Given the description of an element on the screen output the (x, y) to click on. 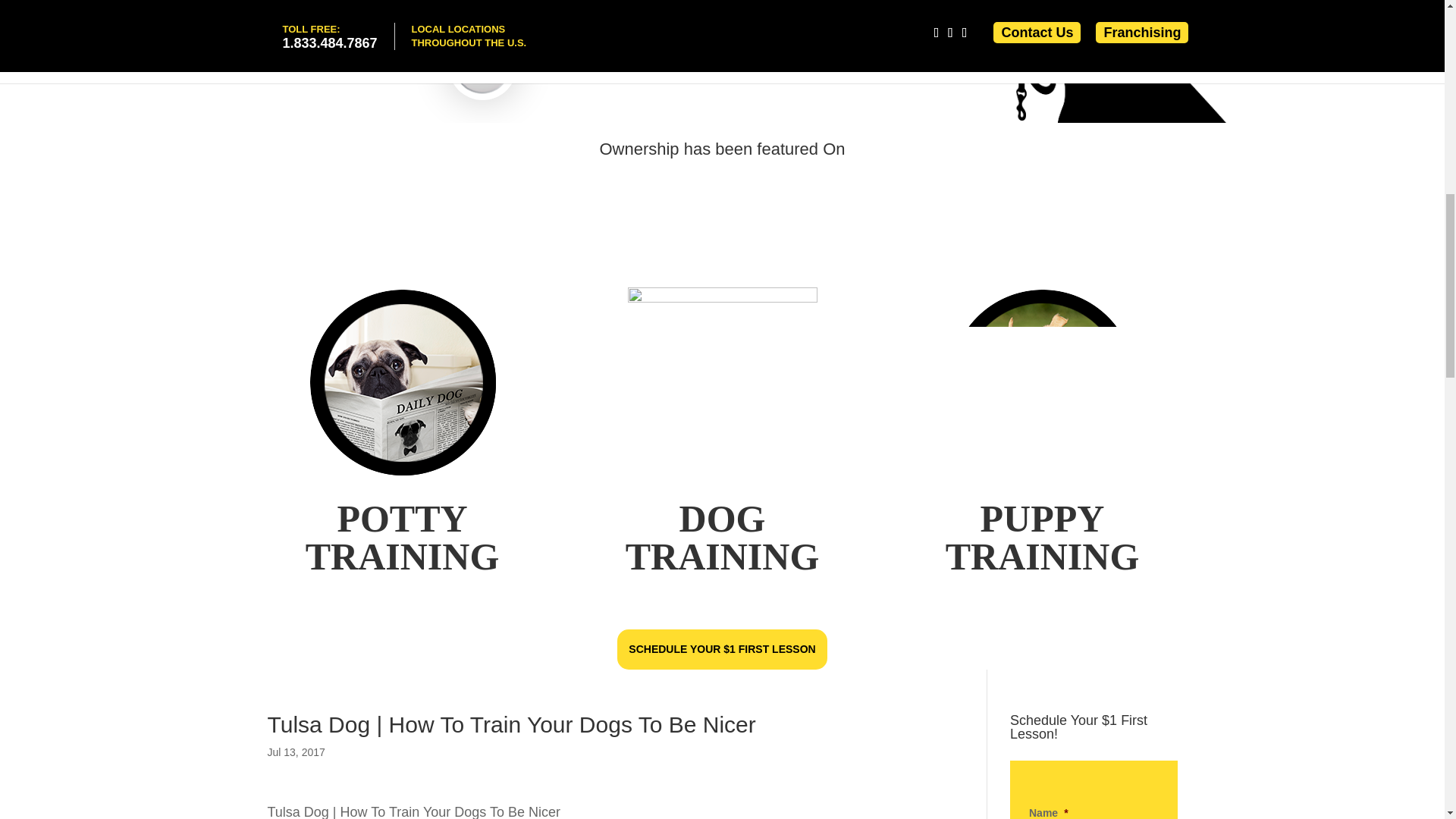
Fast Company Article (891, 182)
Forbes Article (571, 182)
Pando Daily Article (675, 182)
Yahoo Finance Article (782, 182)
Bloomberg Article (469, 182)
Business Insider Article (990, 182)
